Given the description of an element on the screen output the (x, y) to click on. 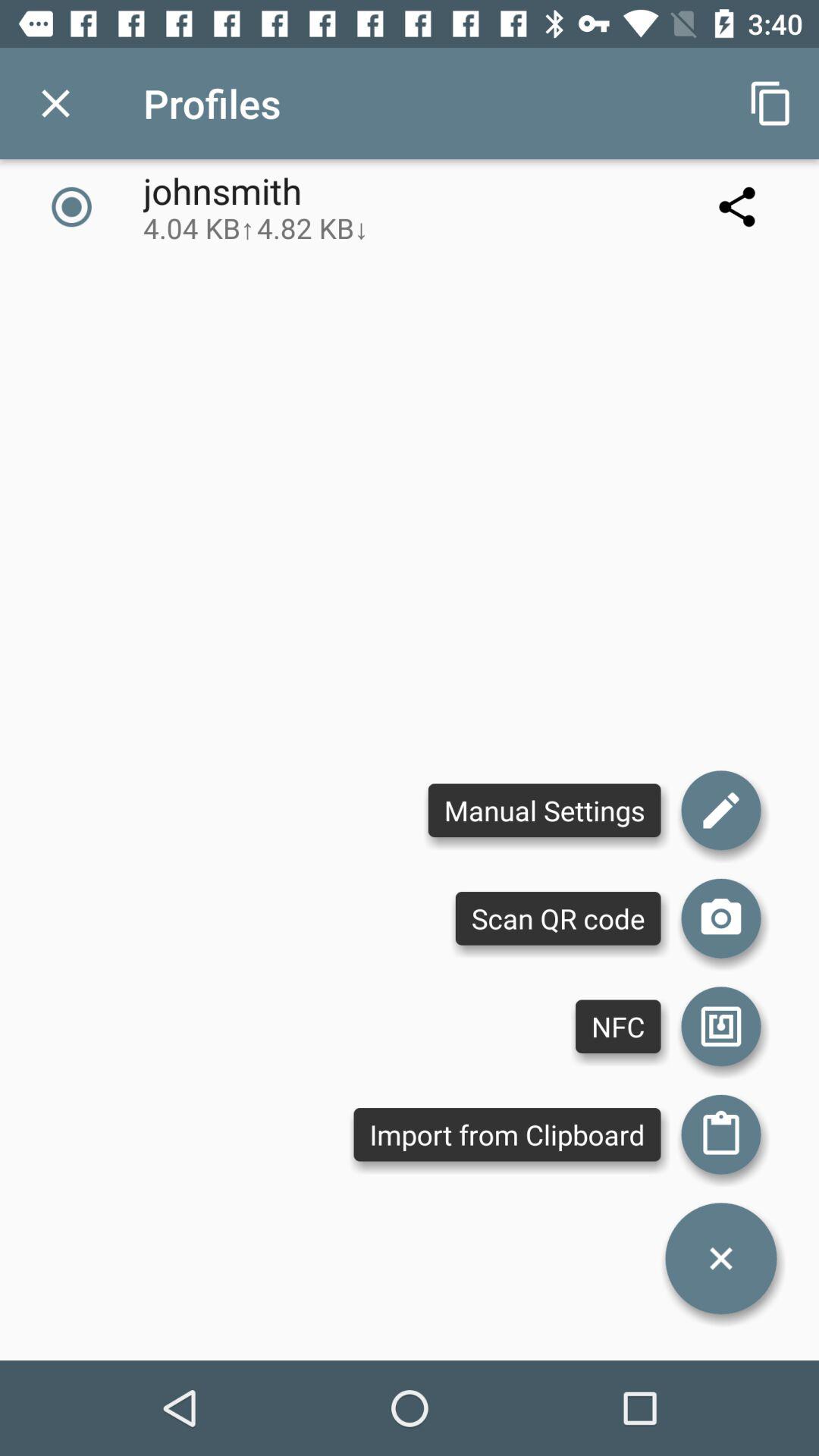
select app to the left of the profiles item (55, 103)
